Given the description of an element on the screen output the (x, y) to click on. 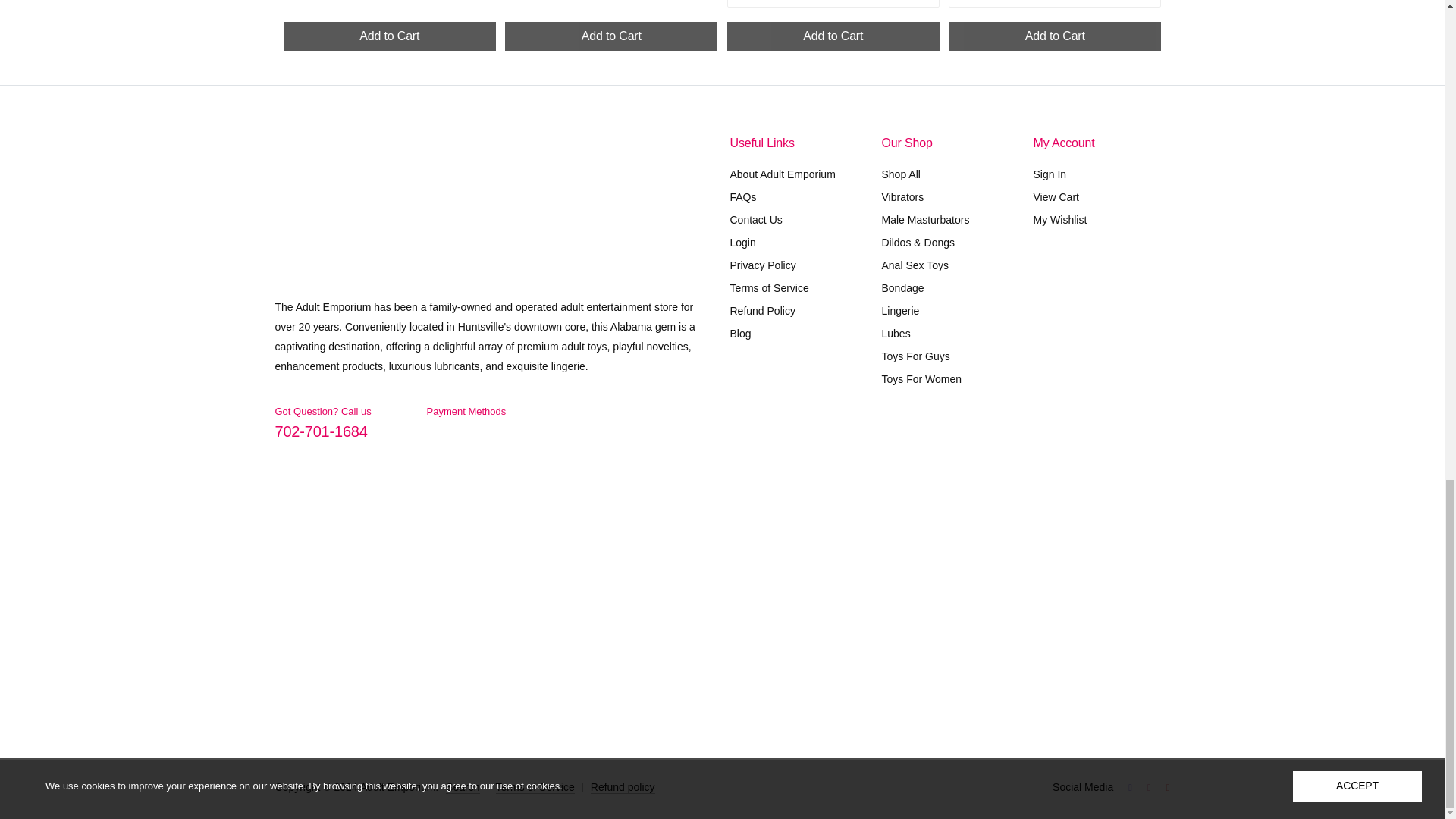
1 (987, 424)
